Given the description of an element on the screen output the (x, y) to click on. 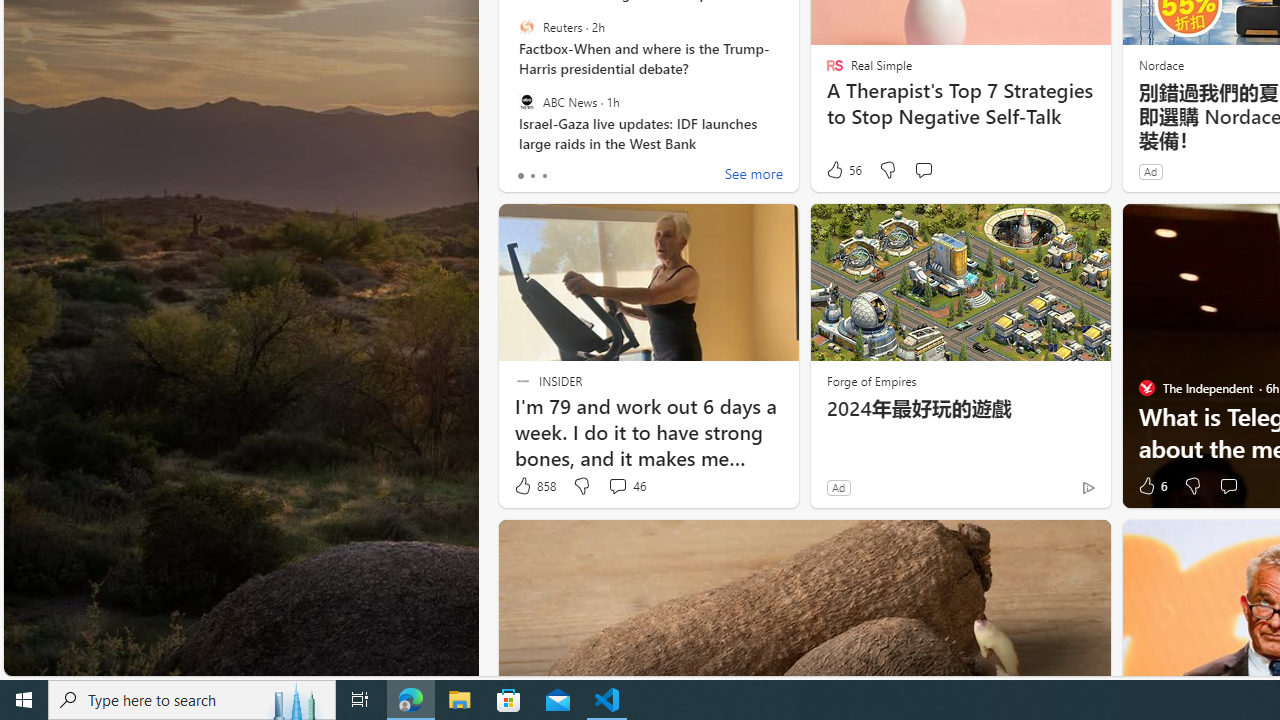
56 Like (843, 170)
tab-0 (520, 175)
View comments 46 Comment (626, 485)
6 Like (1151, 485)
Reuters (526, 27)
